Given the description of an element on the screen output the (x, y) to click on. 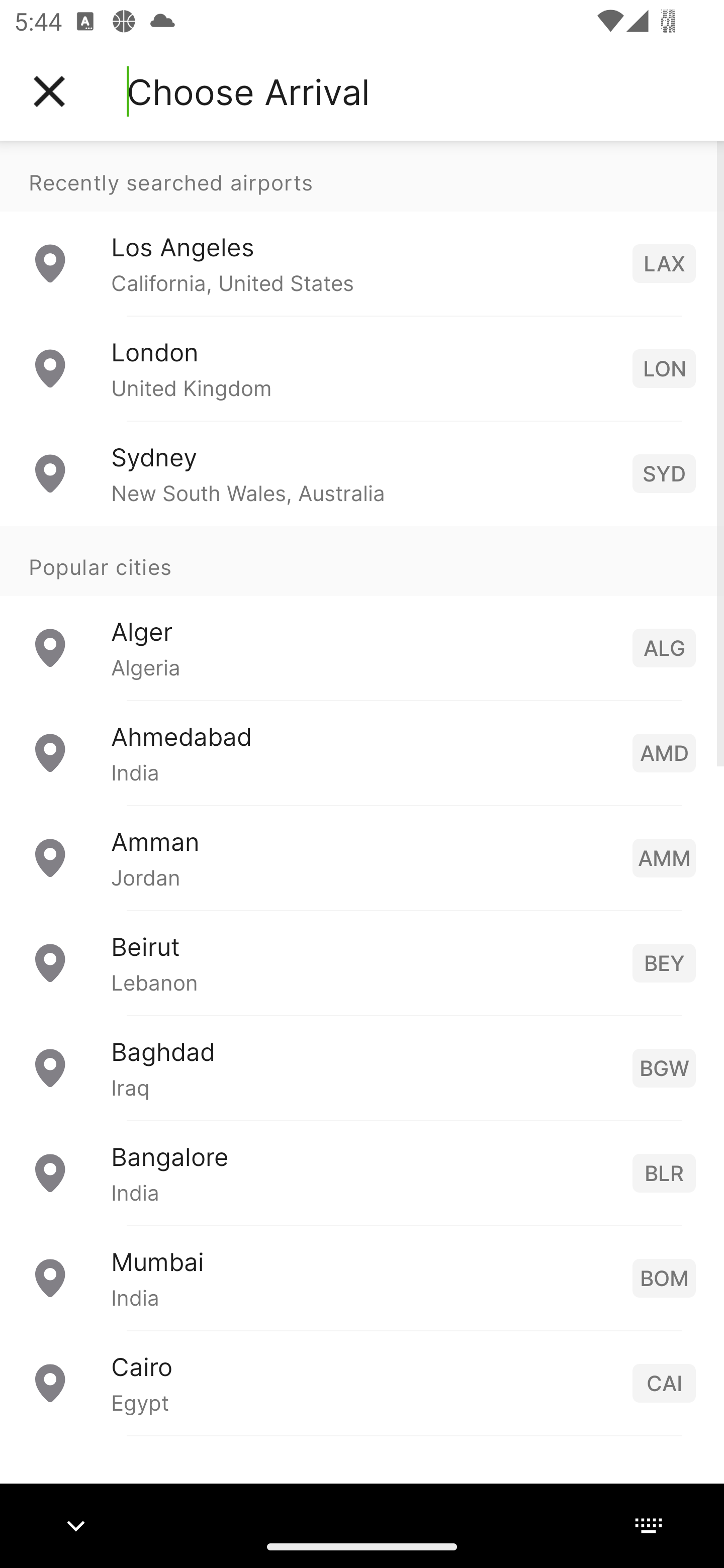
Choose Arrival (247, 91)
Recently searched airports (362, 176)
London United Kingdom LON (362, 367)
Sydney New South Wales, Australia SYD (362, 472)
Popular cities Alger Algeria ALG (362, 612)
Popular cities (362, 560)
Ahmedabad India AMD (362, 751)
Amman Jordan AMM (362, 856)
Beirut Lebanon BEY (362, 961)
Baghdad Iraq BGW (362, 1066)
Bangalore India BLR (362, 1171)
Mumbai India BOM (362, 1276)
Cairo Egypt CAI (362, 1381)
